Given the description of an element on the screen output the (x, y) to click on. 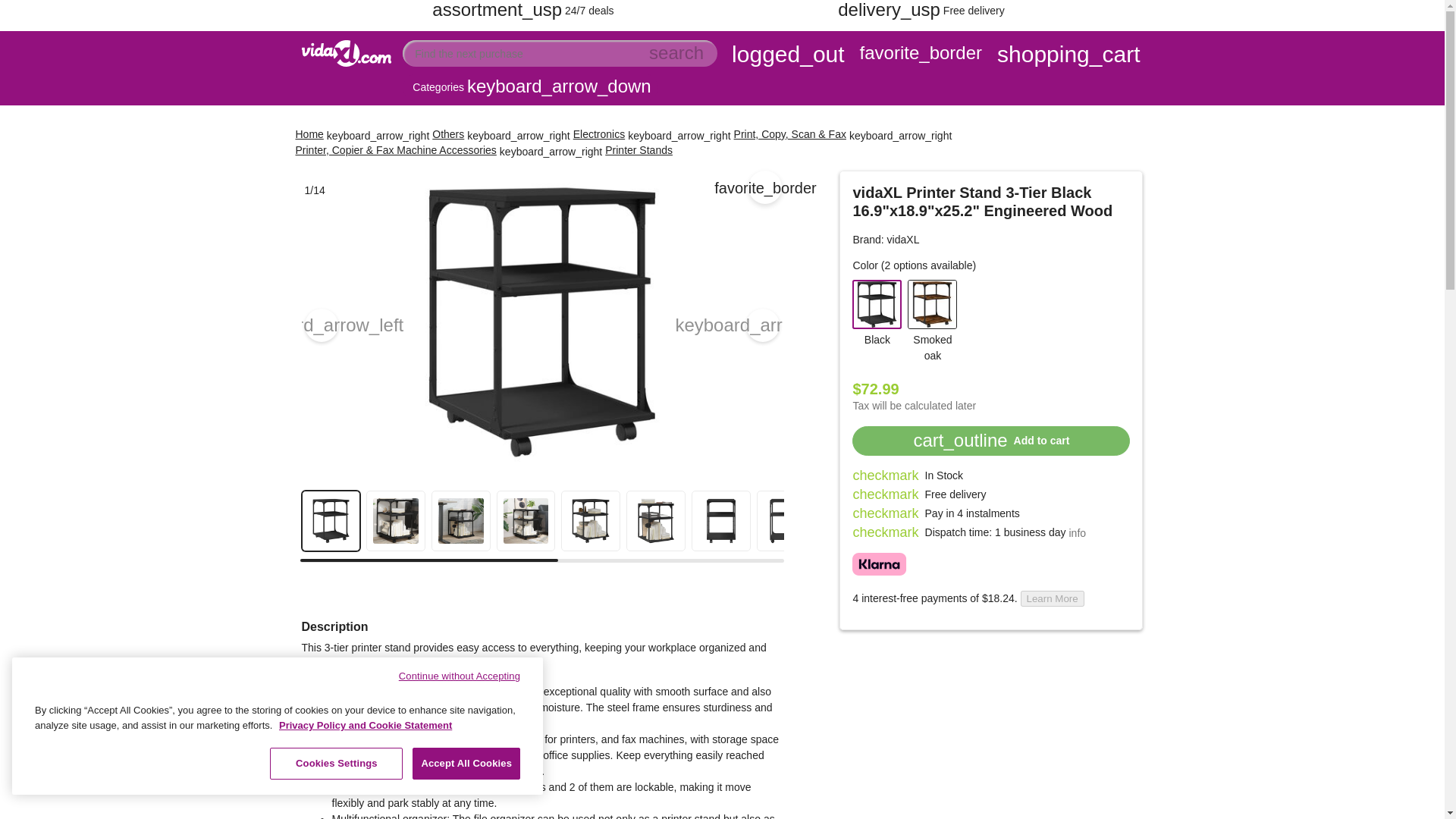
vidaXL Home (346, 71)
search (676, 53)
Cart 0 Items (1068, 55)
